Given the description of an element on the screen output the (x, y) to click on. 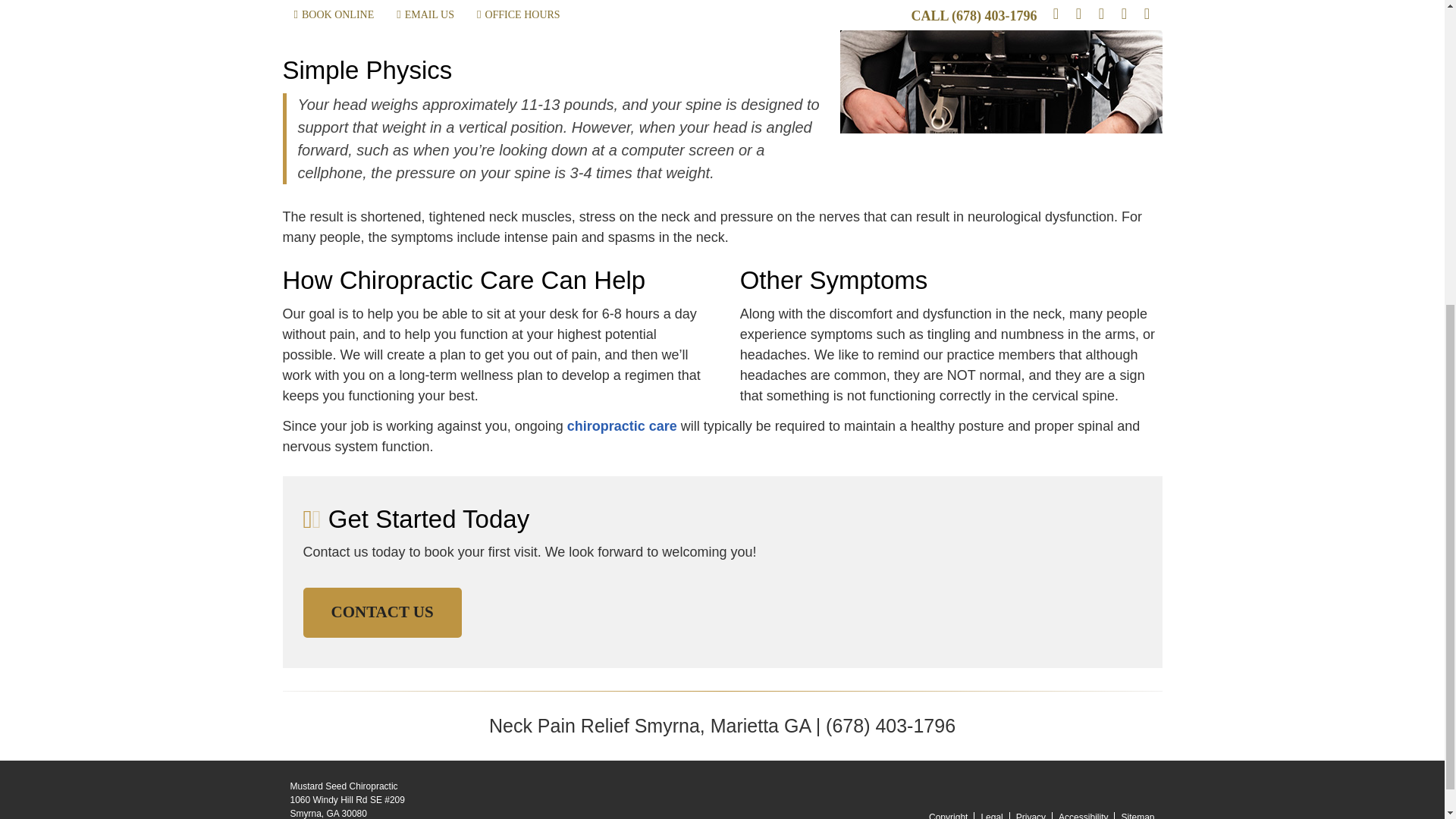
chiropractic care (622, 426)
CONTACT US (381, 613)
NEW PRACTICE MEMBERS (415, 9)
